Given the description of an element on the screen output the (x, y) to click on. 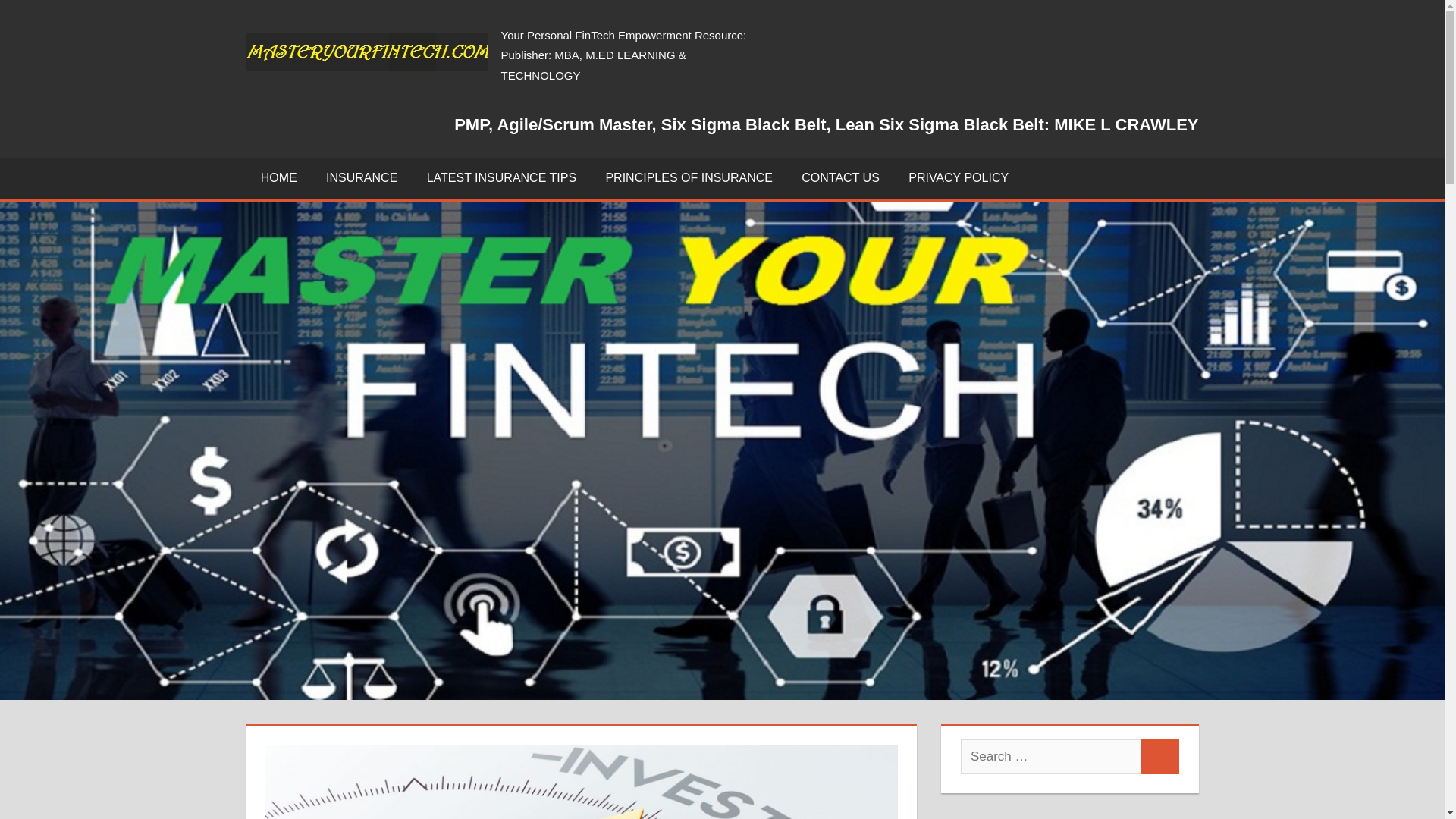
PRIVACY POLICY (958, 178)
LATEST INSURANCE TIPS (501, 178)
PRINCIPLES OF INSURANCE (689, 178)
INSURANCE (361, 178)
Search (1160, 756)
HOME (278, 178)
CONTACT US (840, 178)
Search for: (1050, 756)
